Given the description of an element on the screen output the (x, y) to click on. 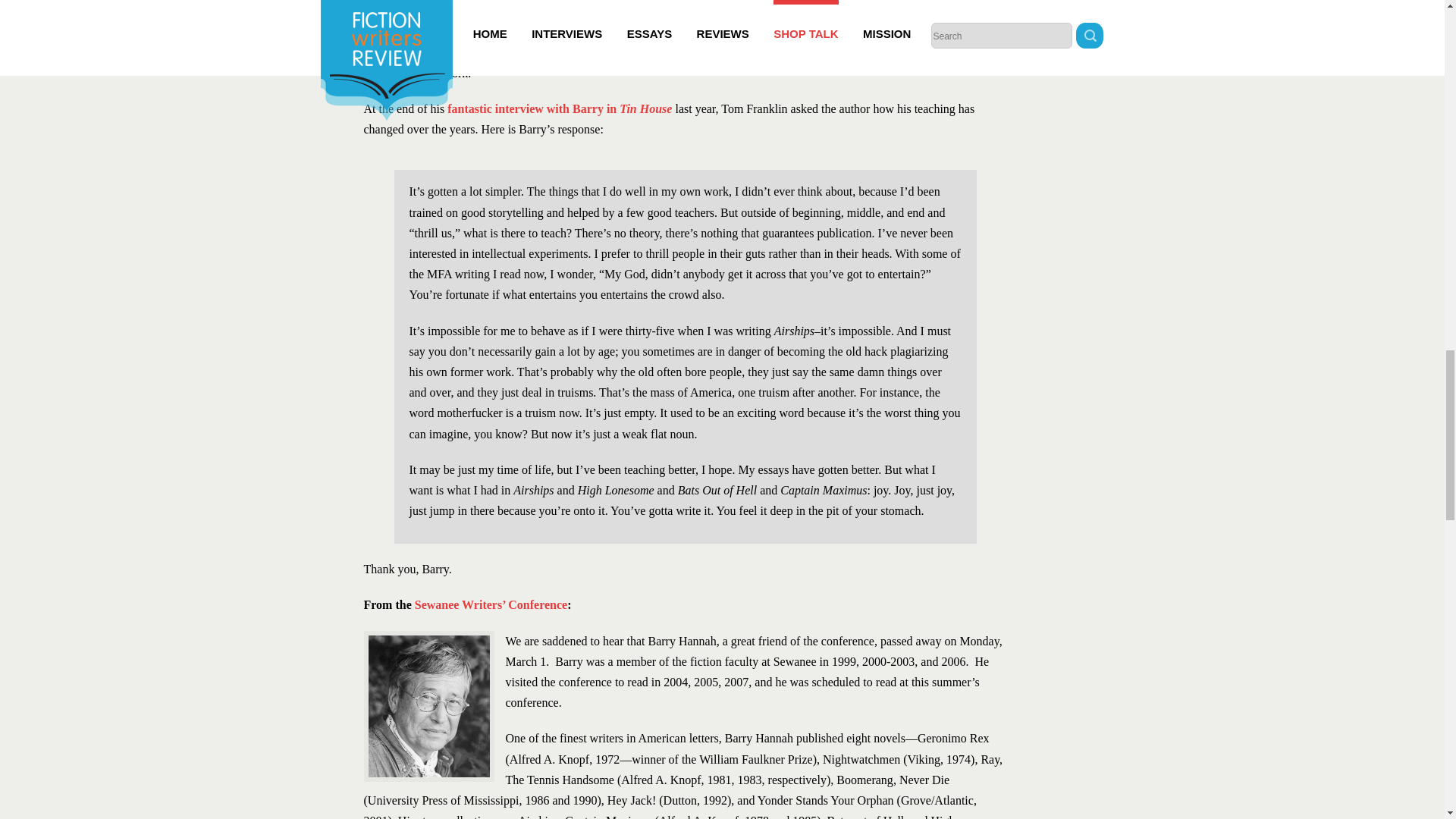
fantastic interview with Barry in Tin House (558, 108)
